Given the description of an element on the screen output the (x, y) to click on. 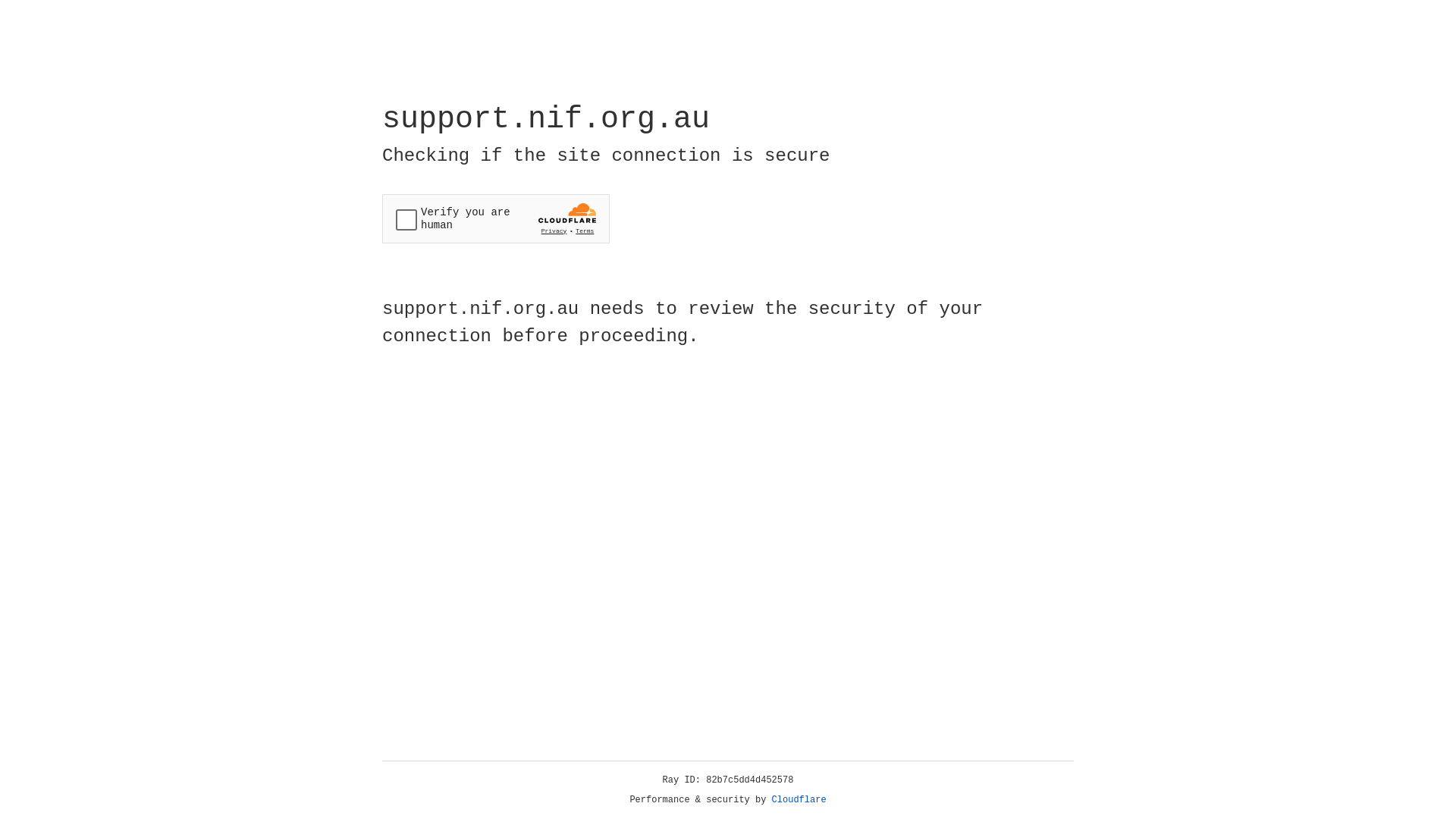
Widget containing a Cloudflare security challenge Element type: hover (495, 218)
Cloudflare Element type: text (798, 799)
